Given the description of an element on the screen output the (x, y) to click on. 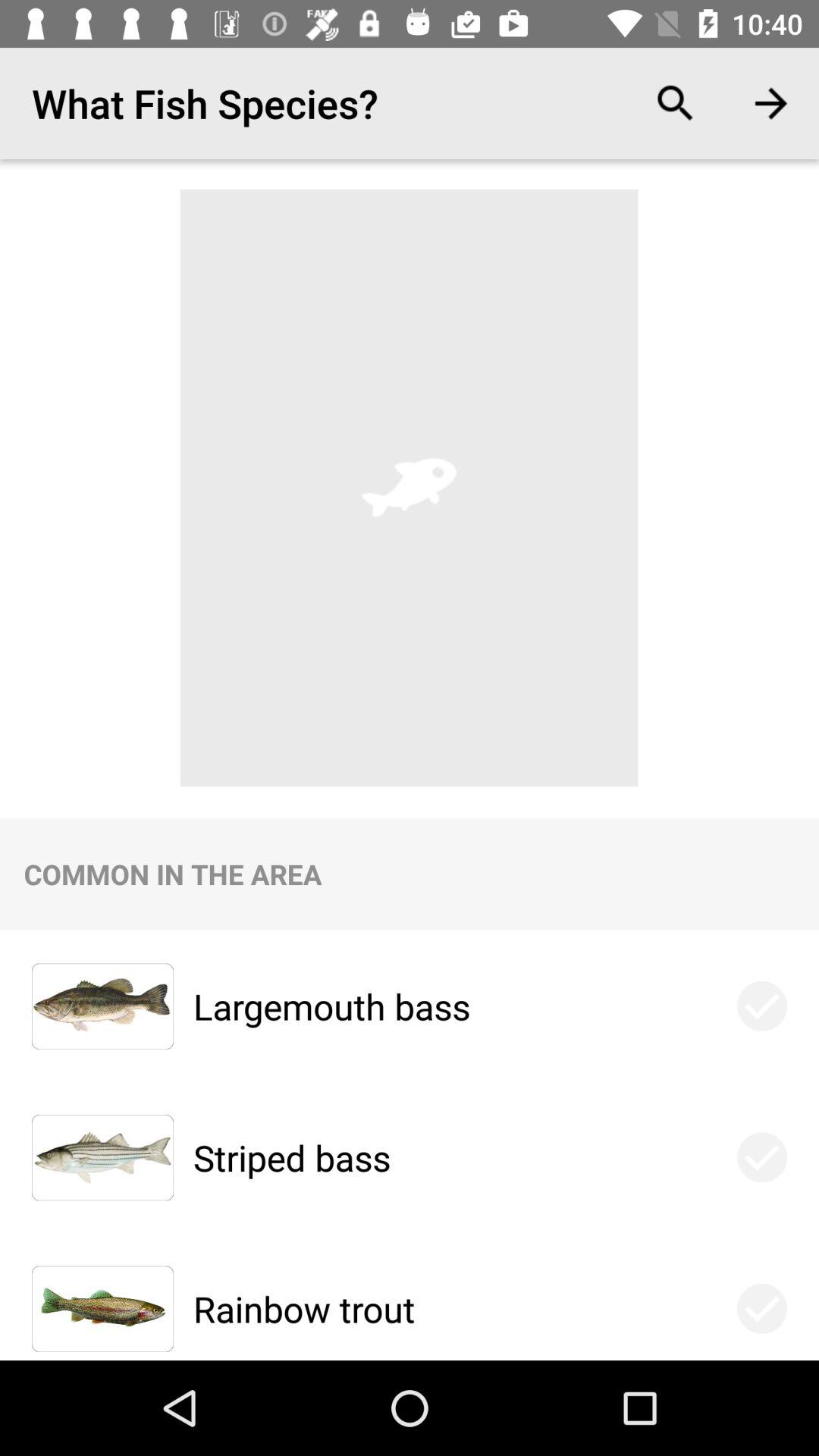
tap icon next to the what fish species? icon (675, 103)
